Given the description of an element on the screen output the (x, y) to click on. 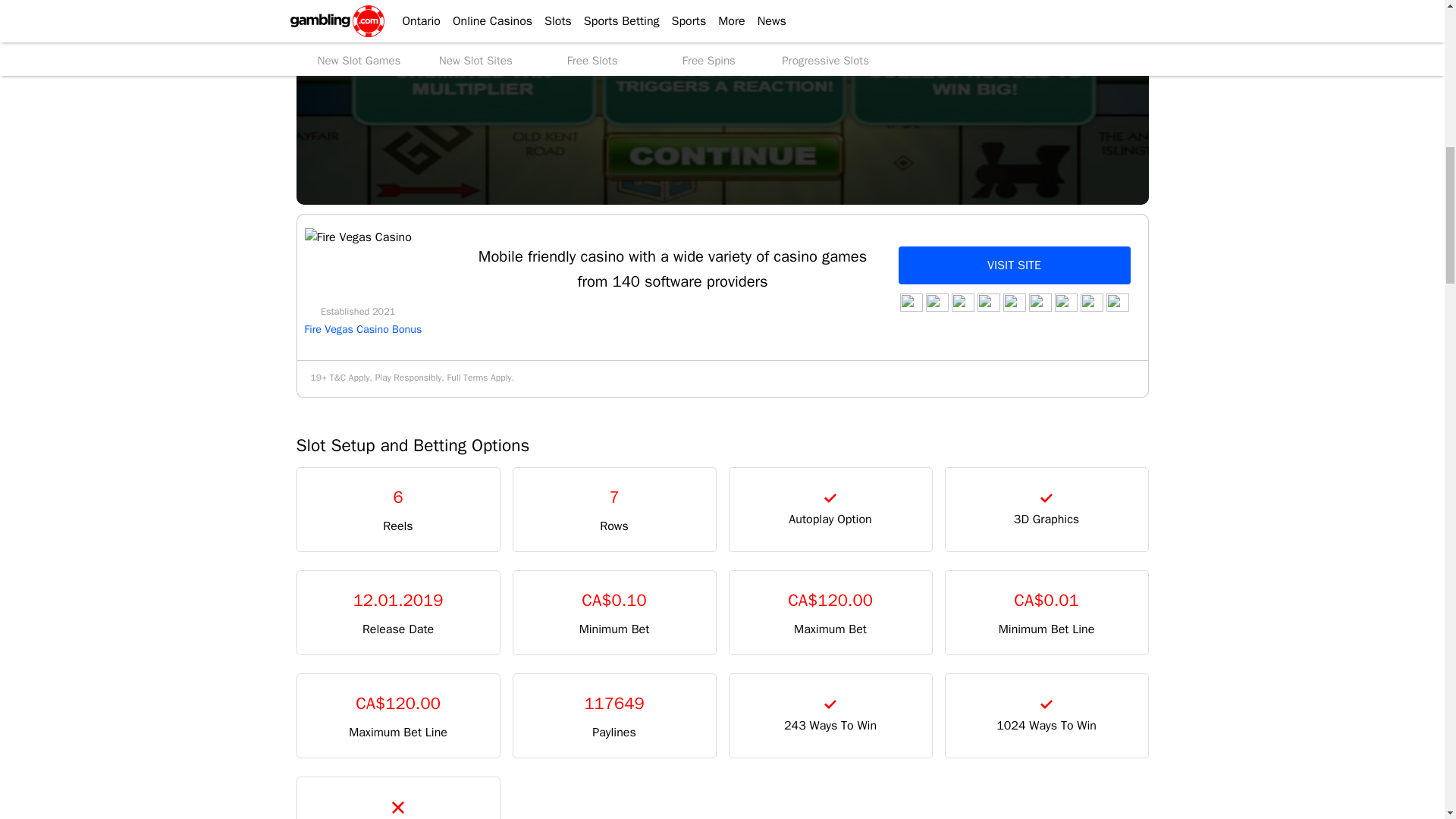
Skrill (1014, 302)
MasterCard (935, 302)
VISA (910, 302)
NETELLER (1039, 302)
Maestro (1065, 302)
Paysafecard (987, 302)
Bank Transfer (1091, 302)
Interac (1116, 302)
Fire Vegas Casino (358, 238)
Apple Pay (962, 302)
